Given the description of an element on the screen output the (x, y) to click on. 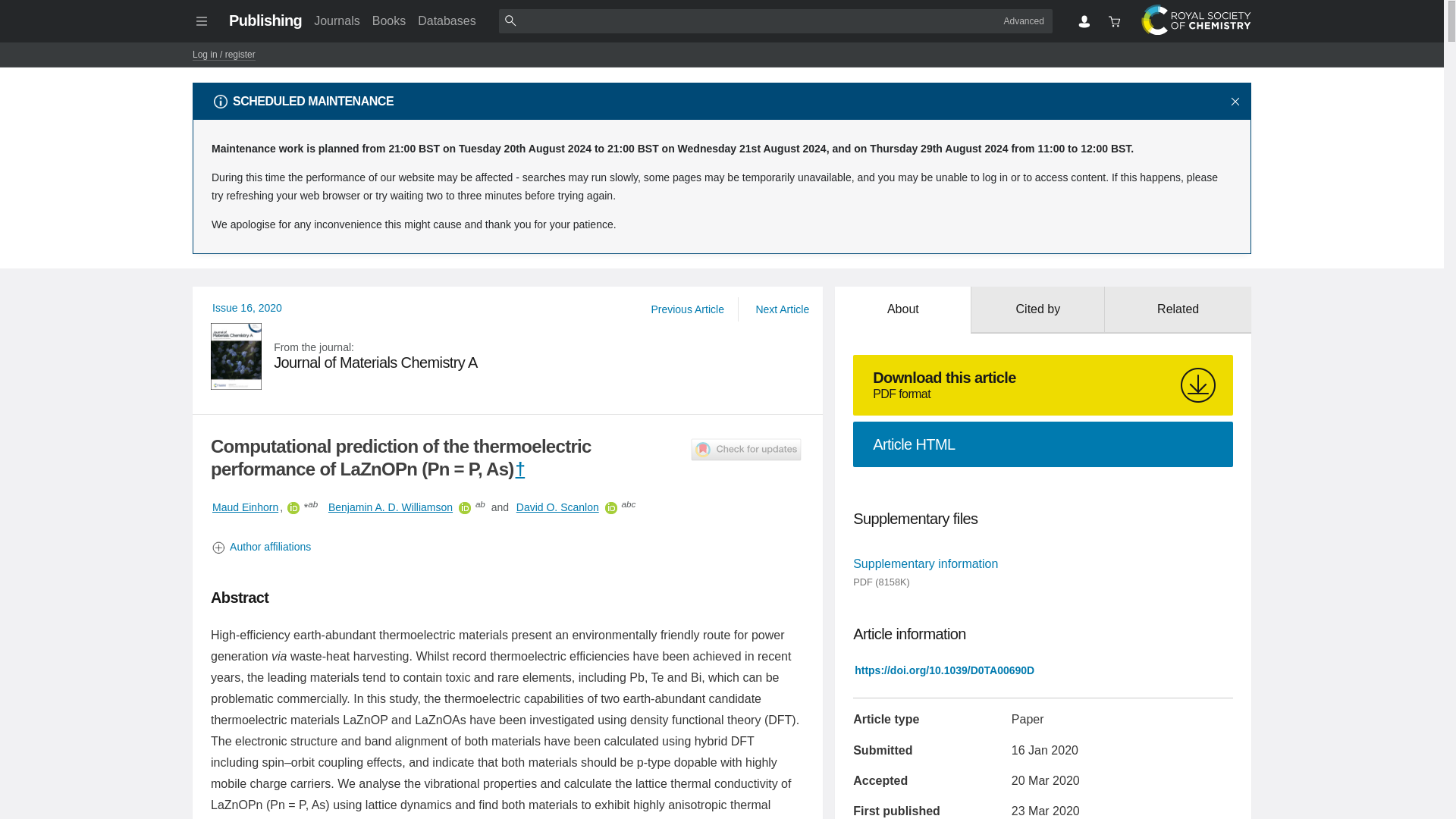
Issue 16, 2020 (247, 307)
Journals (336, 20)
Advanced (1023, 20)
Author affiliations (508, 546)
Issue 16, 2020 (508, 355)
Benjamin A. D. Williamson (247, 307)
Books (390, 507)
David O. Scanlon (389, 20)
Maud Einhorn (557, 507)
